Given the description of an element on the screen output the (x, y) to click on. 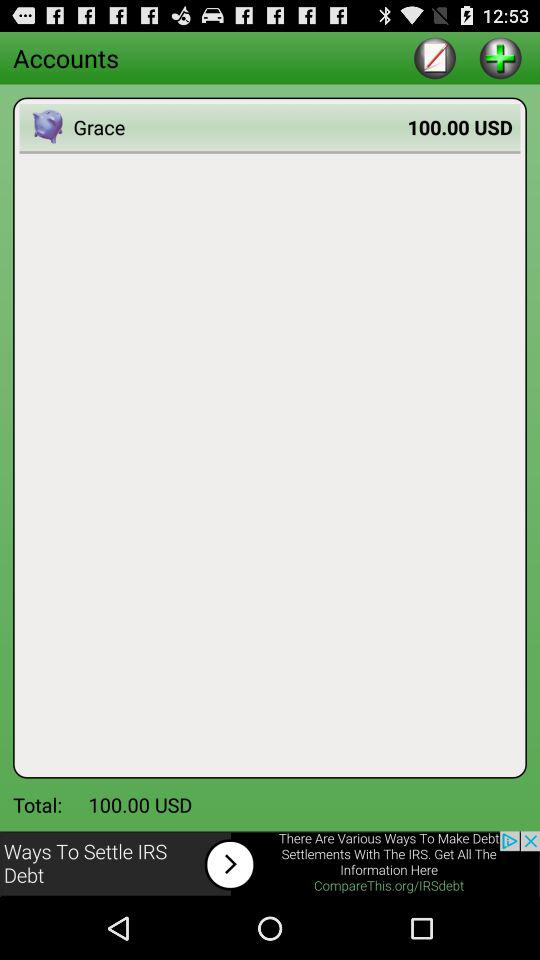
advertisement page (270, 864)
